Given the description of an element on the screen output the (x, y) to click on. 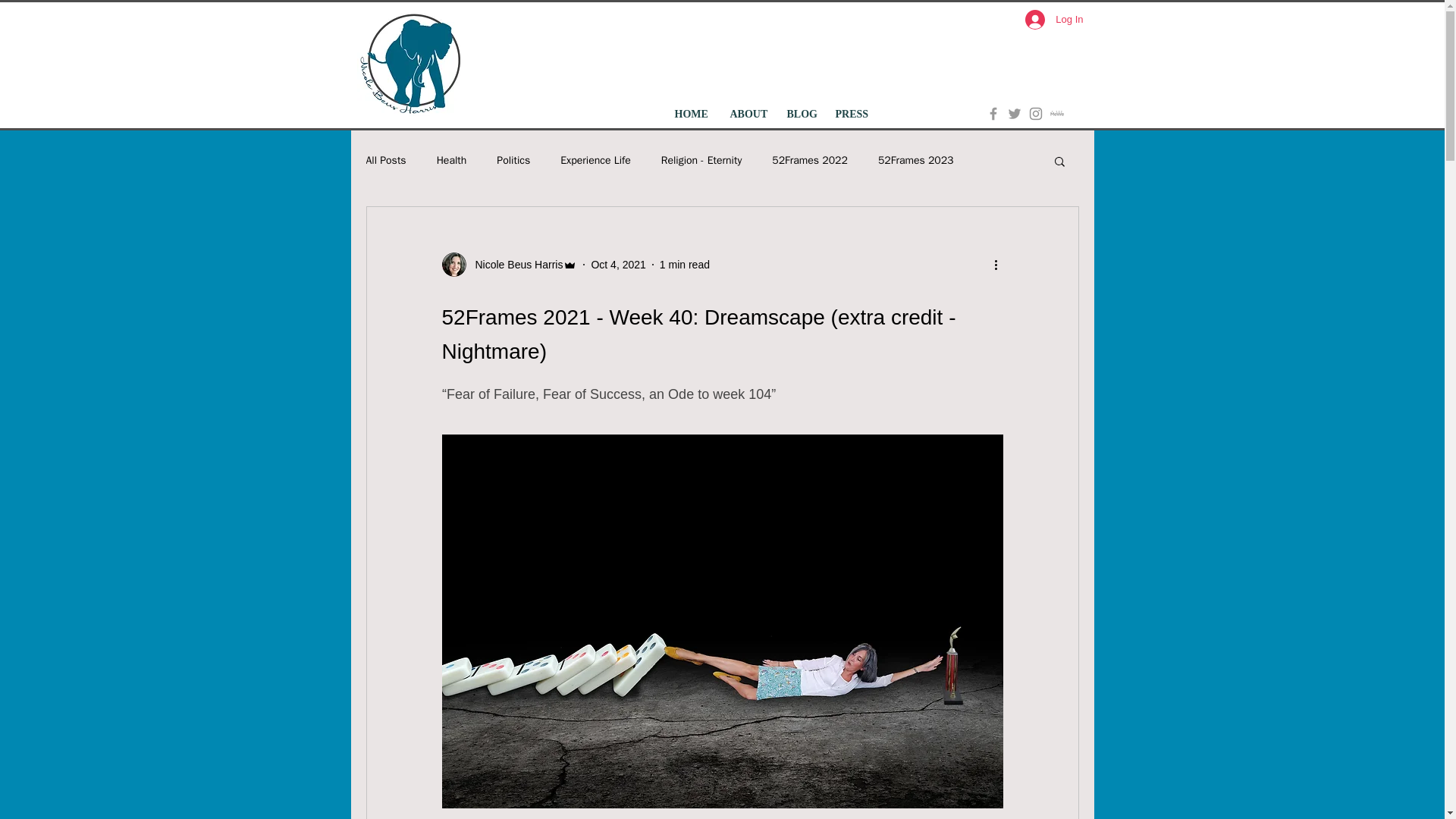
52Frames 2023 (915, 160)
PRESS (850, 114)
52Frames 2022 (809, 160)
Experience Life (595, 160)
Politics (512, 160)
Health (451, 160)
1 min read (684, 263)
Religion - Eternity (701, 160)
Oct 4, 2021 (618, 263)
Nicole Beus Harris (508, 264)
